Given the description of an element on the screen output the (x, y) to click on. 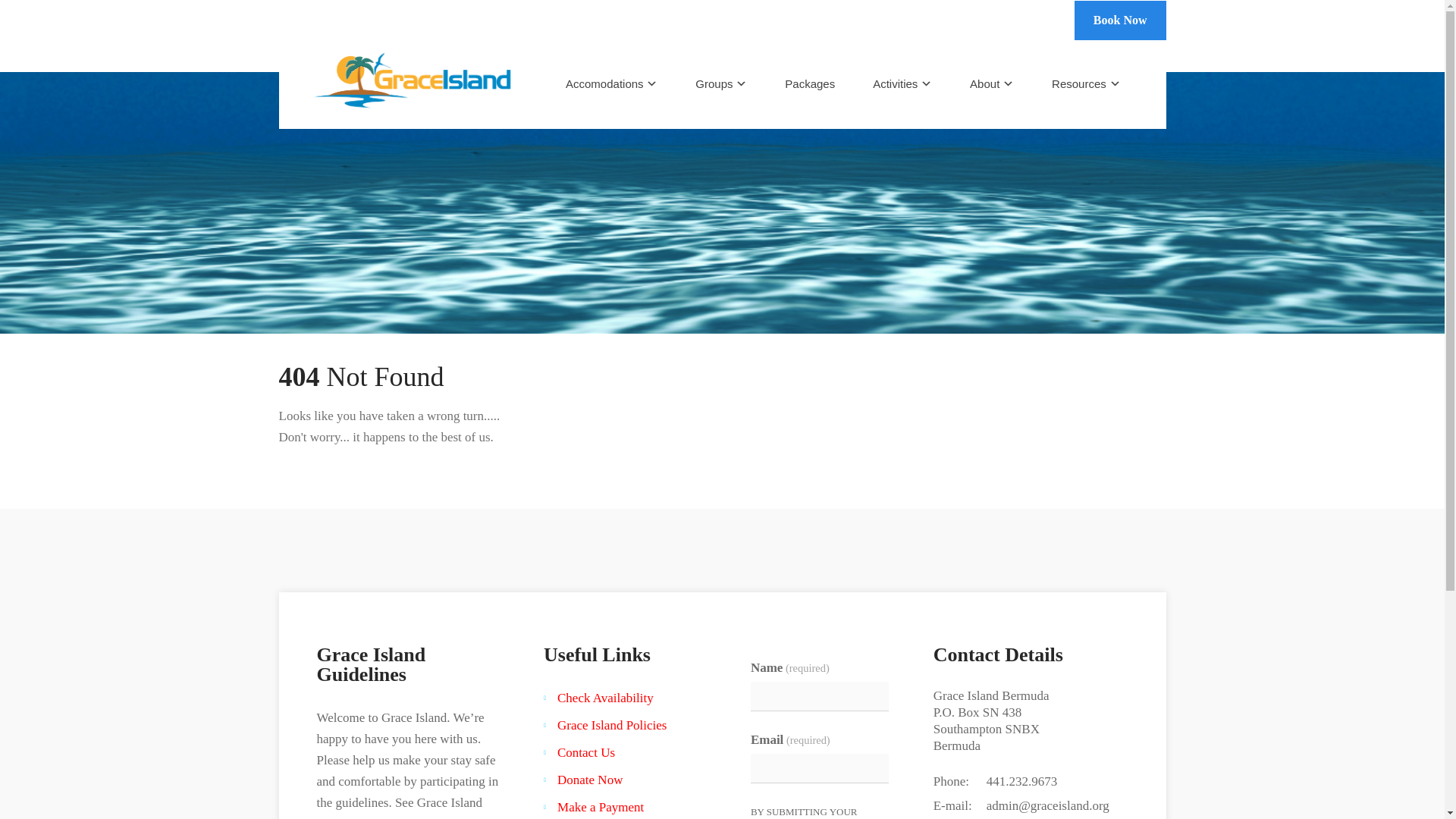
Grace Island Policies (611, 724)
Activities (901, 84)
Check Availability (605, 697)
About (991, 84)
Resources (1085, 84)
Groups (721, 84)
Accomodations (612, 84)
Book Now (1120, 20)
Packages (809, 84)
